Given the description of an element on the screen output the (x, y) to click on. 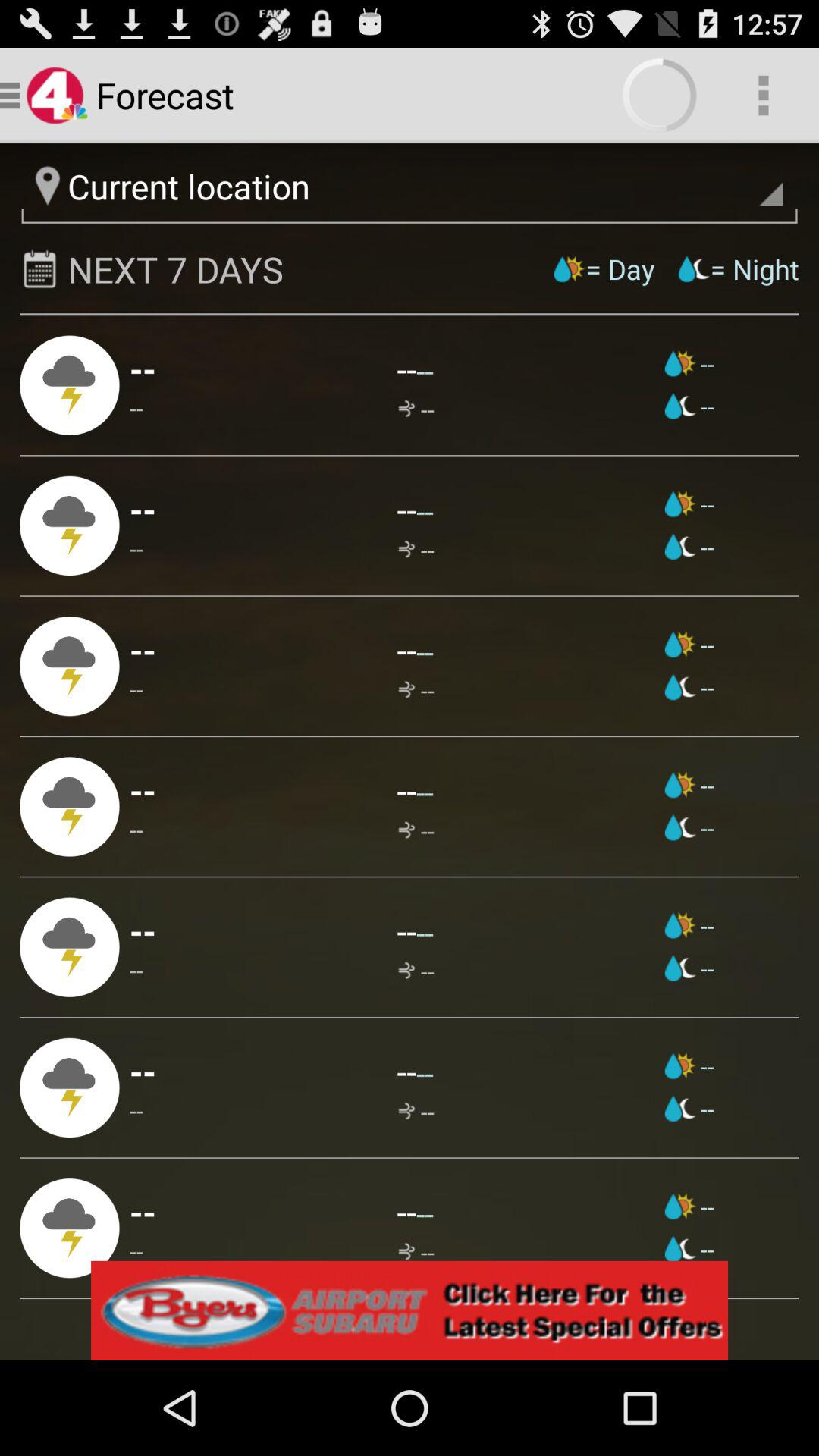
jump until the -- item (406, 368)
